Given the description of an element on the screen output the (x, y) to click on. 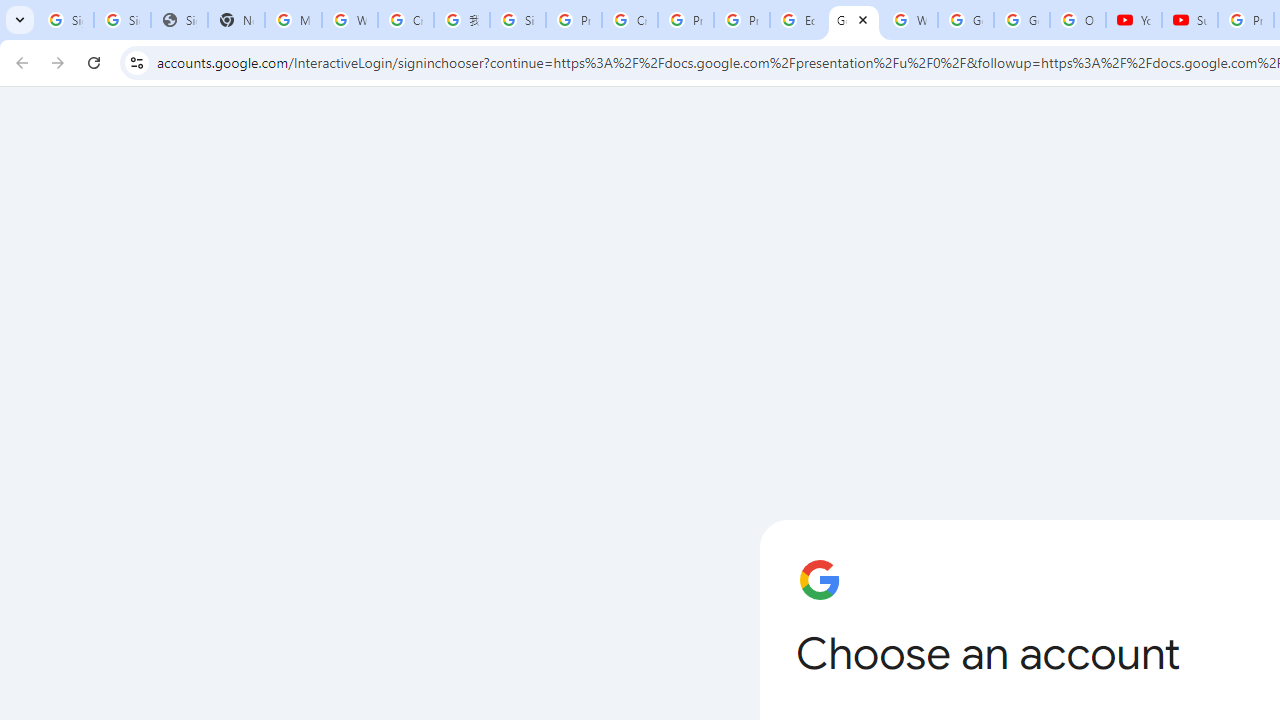
Who is my administrator? - Google Account Help (349, 20)
YouTube (1133, 20)
Sign in - Google Accounts (122, 20)
New Tab (235, 20)
Create your Google Account (629, 20)
Google Slides: Sign-in (853, 20)
